Given the description of an element on the screen output the (x, y) to click on. 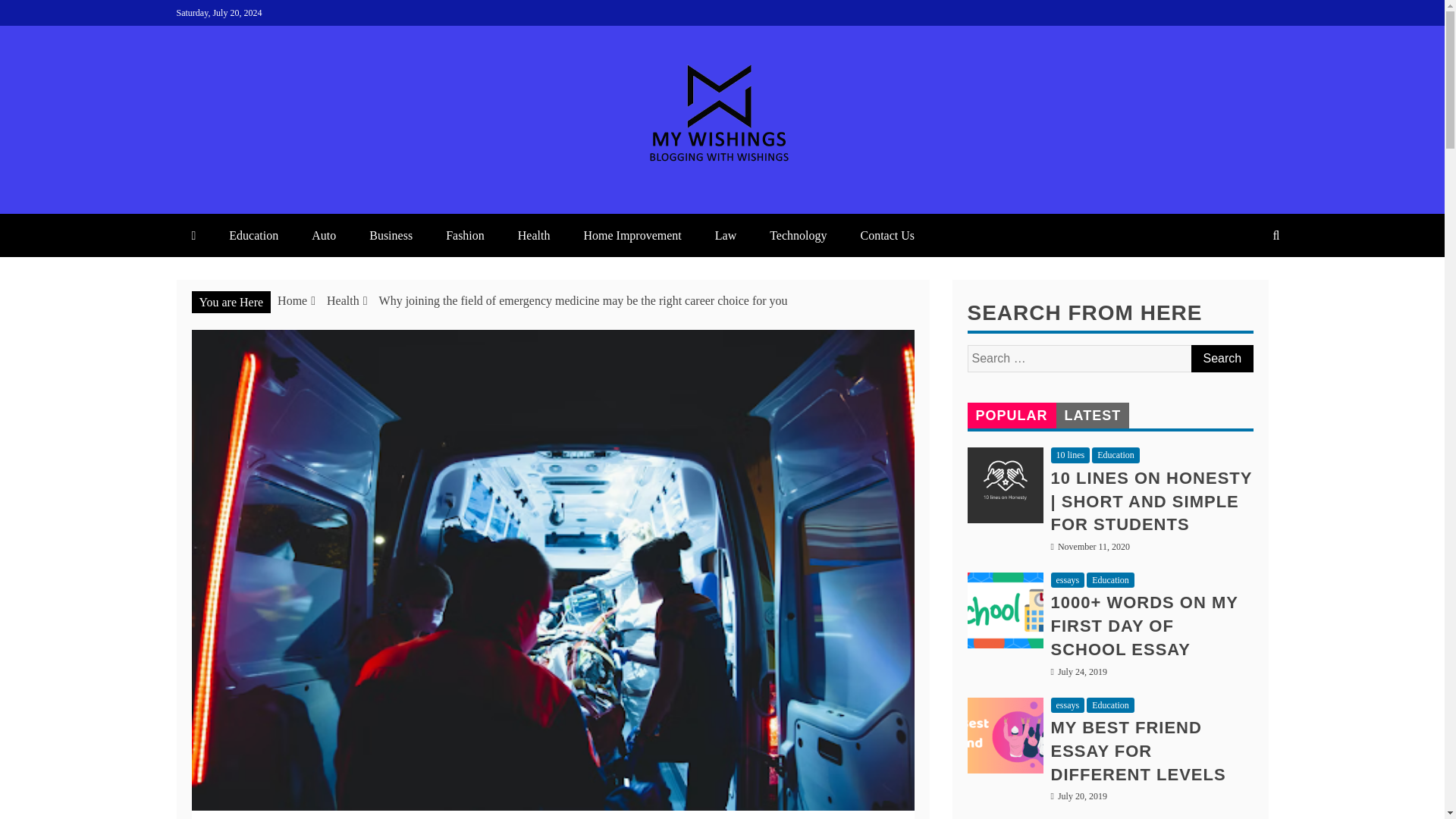
Home (292, 300)
Search (1221, 358)
Health (534, 235)
Health (342, 300)
Business (390, 235)
Contact Us (887, 235)
Fashion (464, 235)
Auto (323, 235)
Education (254, 235)
Technology (797, 235)
Home Improvement (631, 235)
Search (1221, 358)
Law (725, 235)
